Given the description of an element on the screen output the (x, y) to click on. 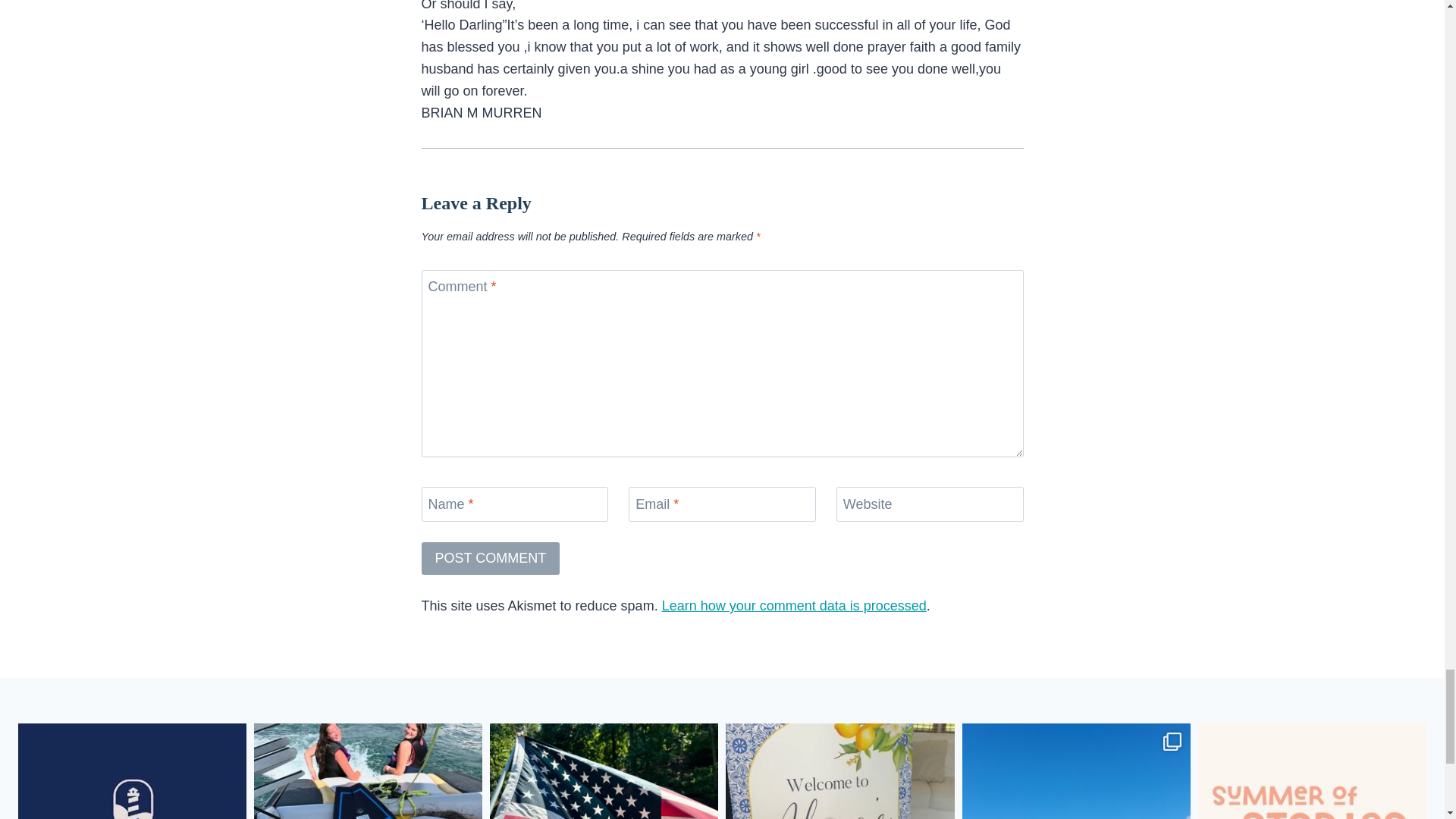
Post Comment (491, 558)
